Given the description of an element on the screen output the (x, y) to click on. 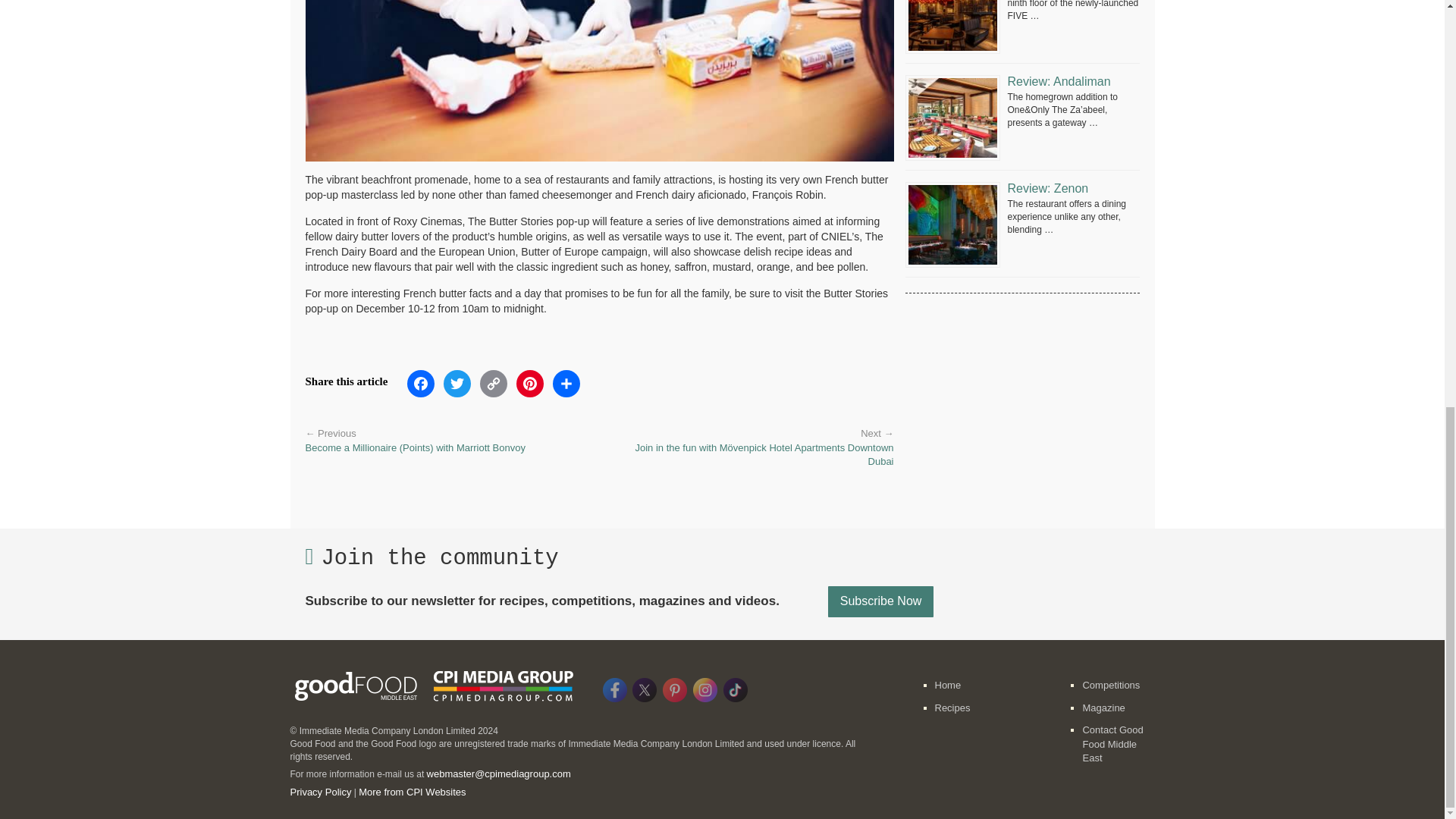
3rd party ad content (1021, 395)
Twitter (457, 388)
Copy Link (494, 388)
Facebook (421, 388)
Pinterest (530, 388)
